Given the description of an element on the screen output the (x, y) to click on. 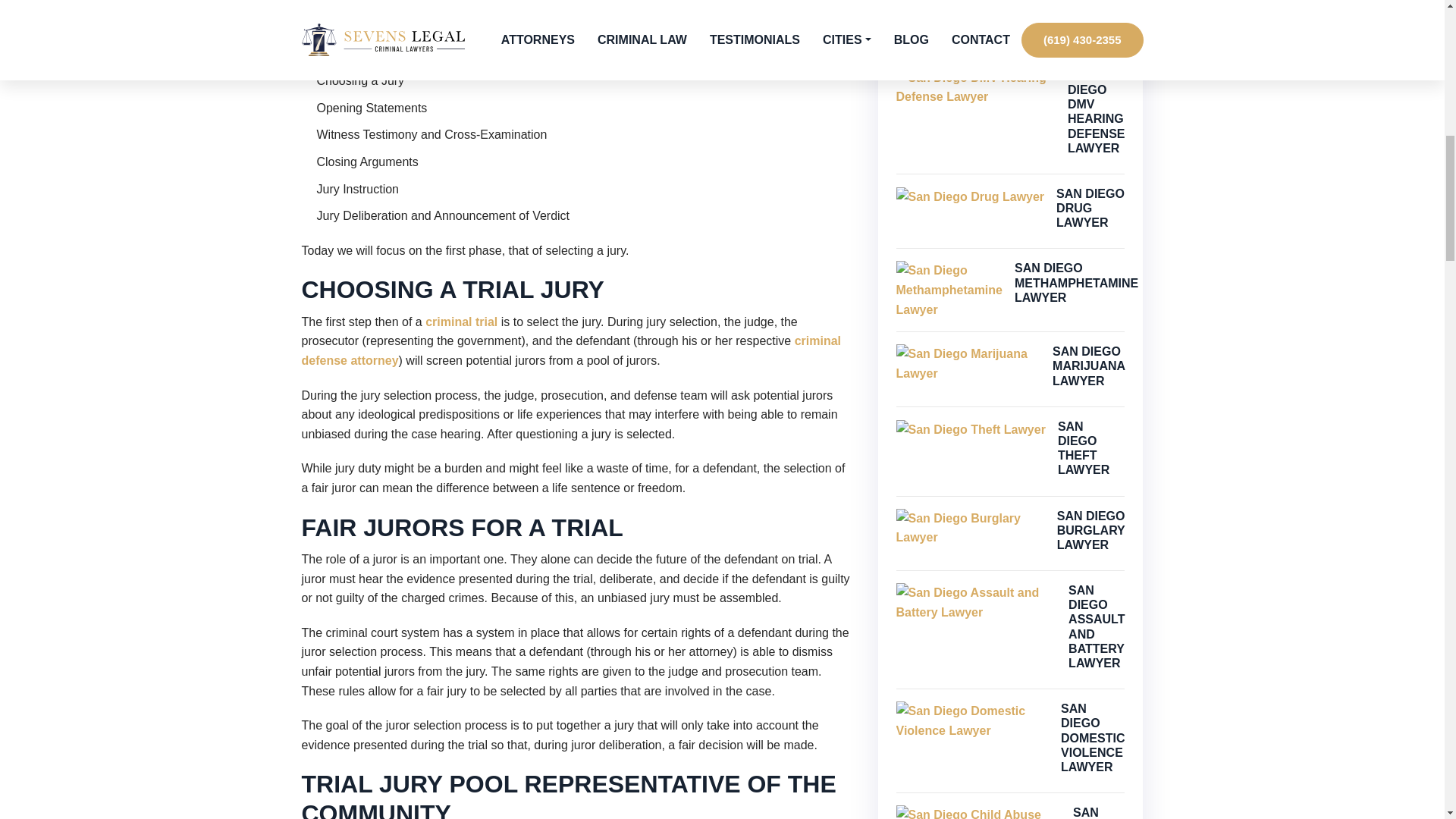
San Diego Theft Lawyer (970, 429)
San Diego Marijuana Lawyer (968, 363)
San Diego Child Abuse Lawyer (978, 812)
San Diego DMV Hearing Defense Lawyer (975, 87)
San Diego Field Sobriety Tests (973, 1)
criminal trial (461, 321)
San Diego Burglary Lawyer (970, 527)
San Diego Domestic Violence Lawyer (972, 720)
San Diego Drug Lawyer (970, 197)
San Diego Methamphetamine Lawyer (949, 290)
